Given the description of an element on the screen output the (x, y) to click on. 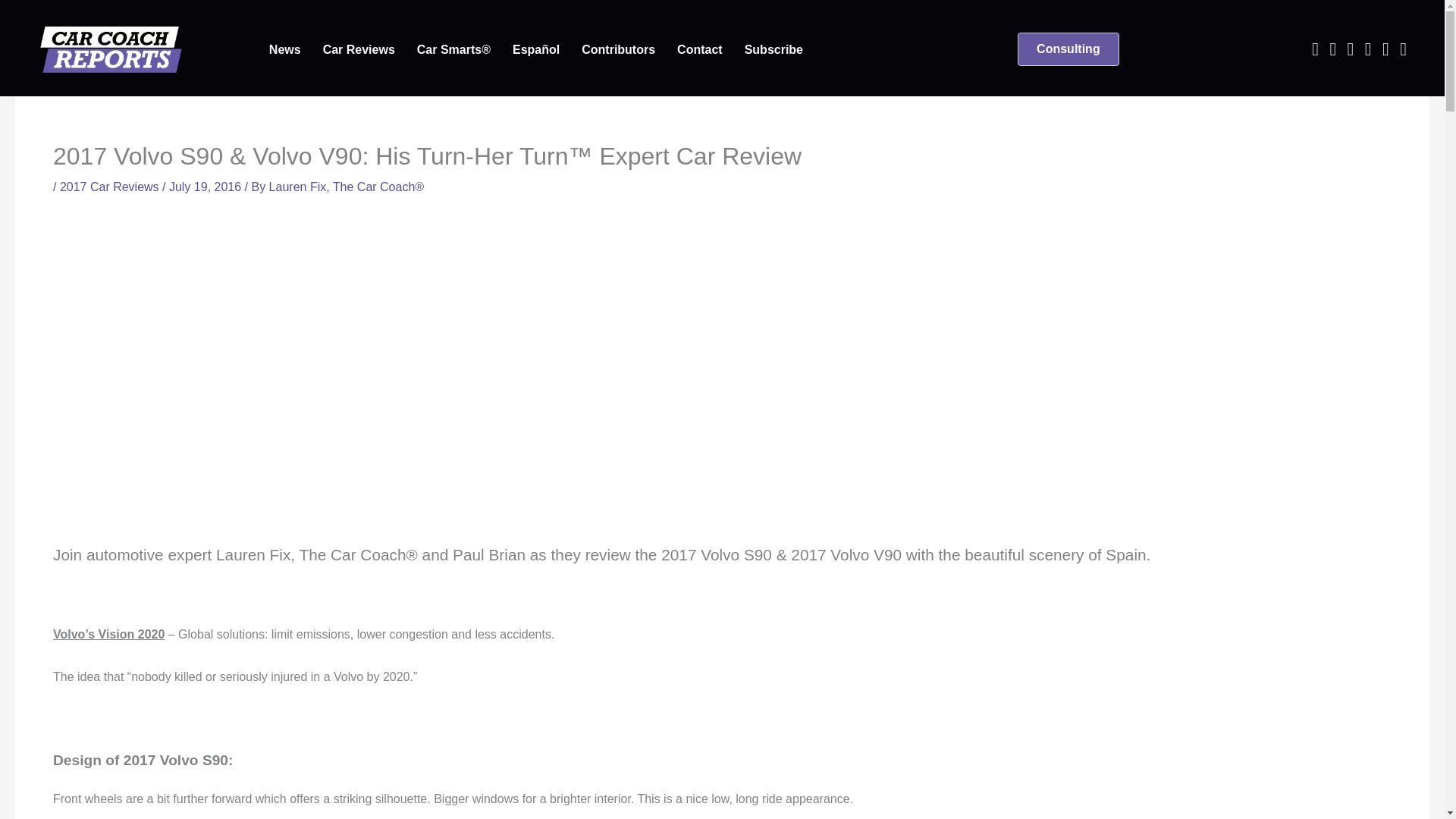
Car Reviews (359, 49)
Contact (699, 49)
Subscribe (773, 49)
News (285, 49)
Contributors (617, 49)
Consulting (1068, 49)
CCR LOGO NEW (110, 49)
